Given the description of an element on the screen output the (x, y) to click on. 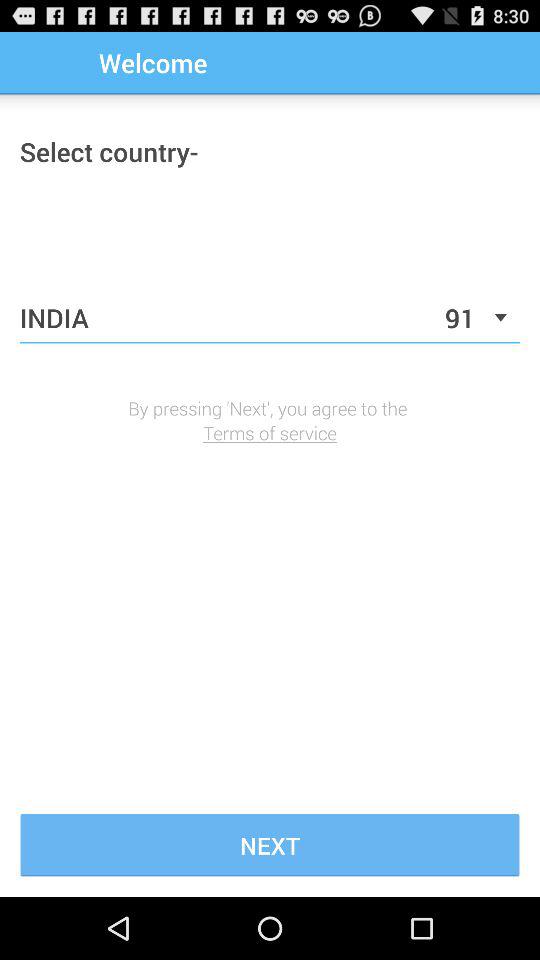
flip until the terms of service item (269, 432)
